Given the description of an element on the screen output the (x, y) to click on. 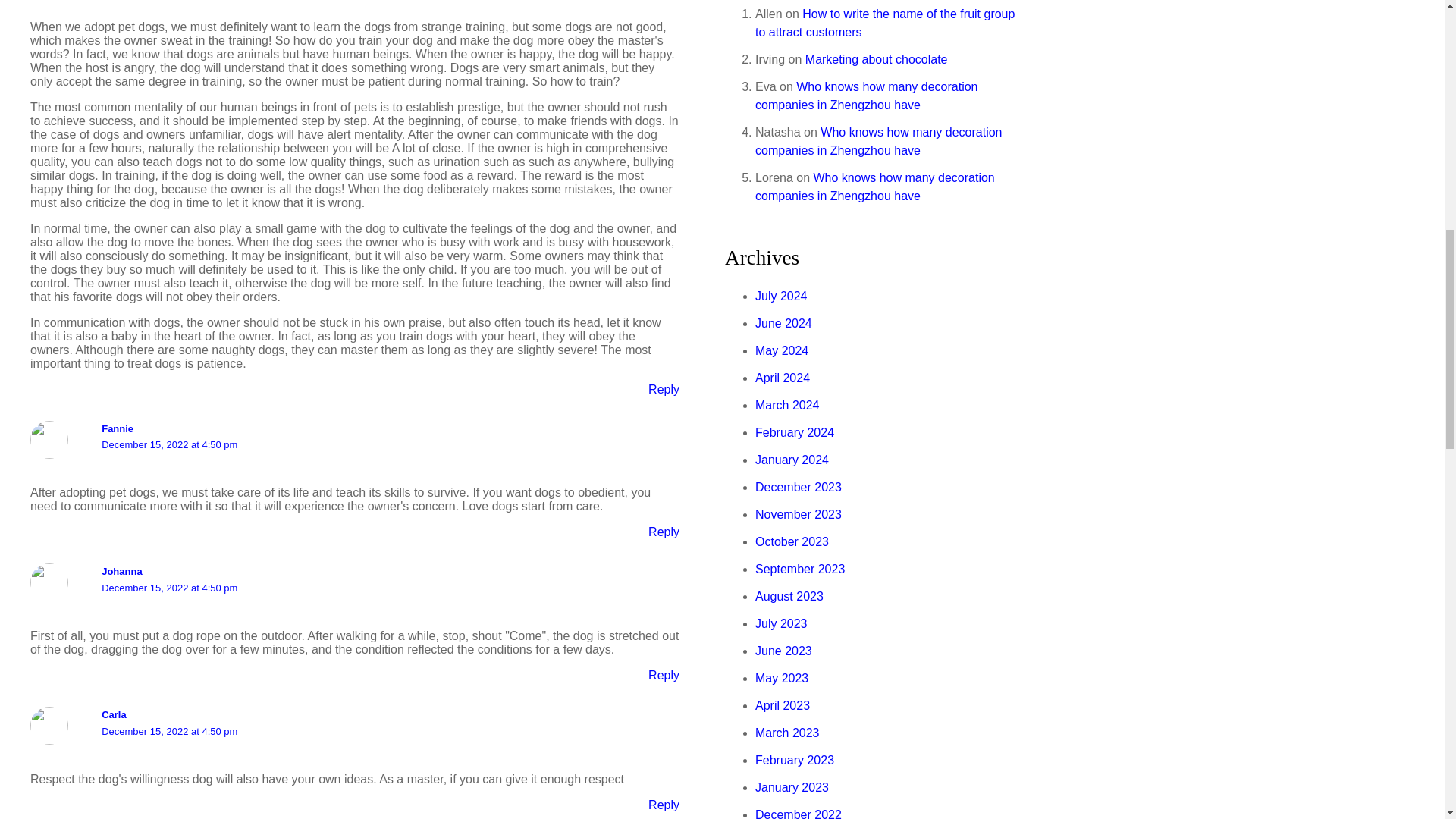
December 15, 2022 at 4:50 pm (169, 731)
December 15, 2022 at 4:50 pm (169, 444)
Reply (663, 675)
December 15, 2022 at 4:50 pm (169, 587)
Reply (663, 804)
Reply (663, 531)
Reply (663, 389)
